Given the description of an element on the screen output the (x, y) to click on. 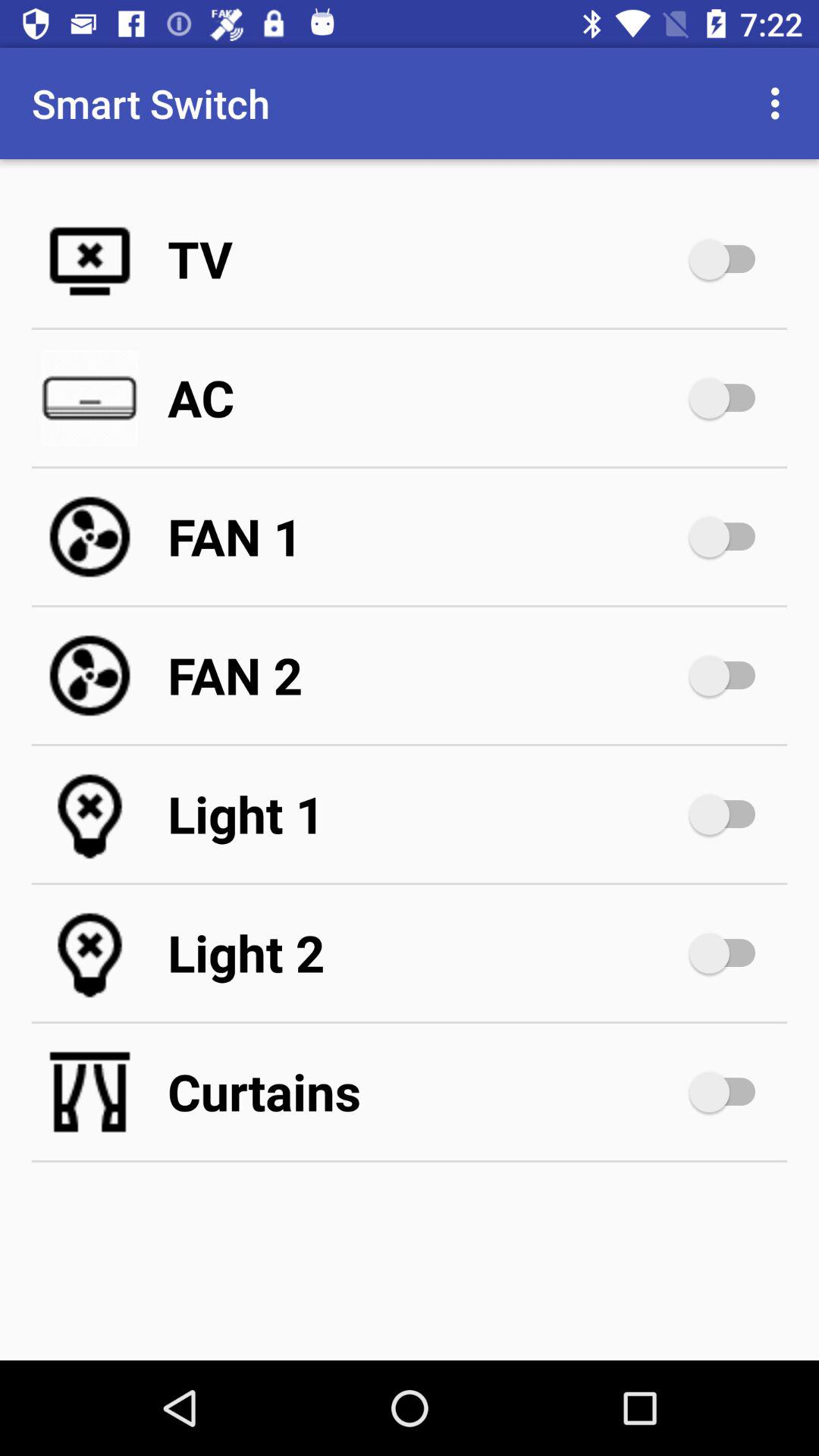
click to turn on (729, 259)
